Given the description of an element on the screen output the (x, y) to click on. 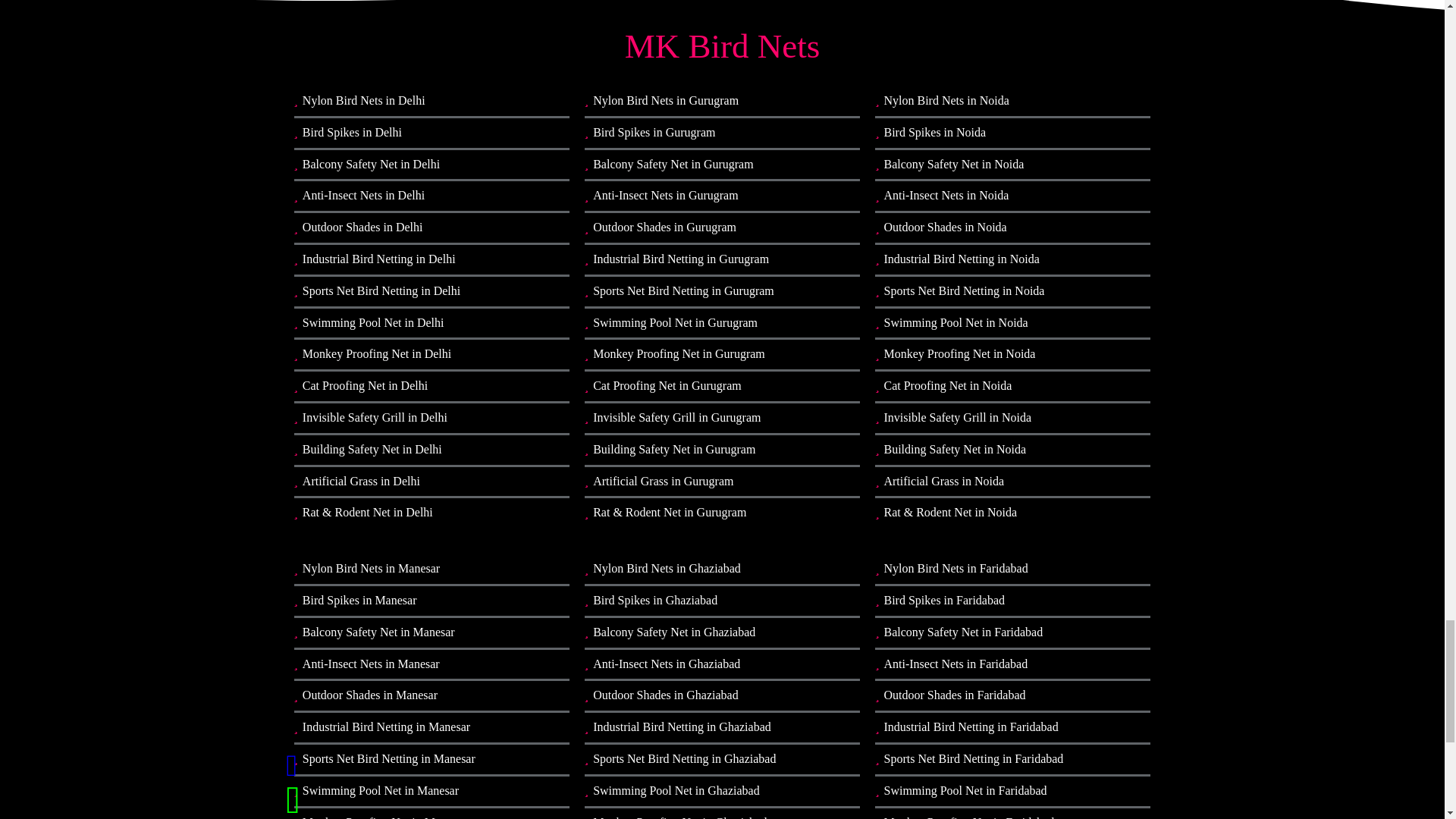
Nylon Bird Nets in Delhi (431, 101)
Anti-Insect Nets in Gurugram (722, 195)
Anti-Insect Nets in Delhi (431, 195)
Sports Net Bird Netting in Delhi (431, 291)
Artificial Grass in Delhi (431, 481)
MK Bird Nets (722, 46)
Industrial Bird Netting in Delhi (431, 259)
Bird Spikes in Delhi (431, 132)
Swimming Pool Net in Delhi (431, 323)
Cat Proofing Net in Delhi (431, 386)
